Given the description of an element on the screen output the (x, y) to click on. 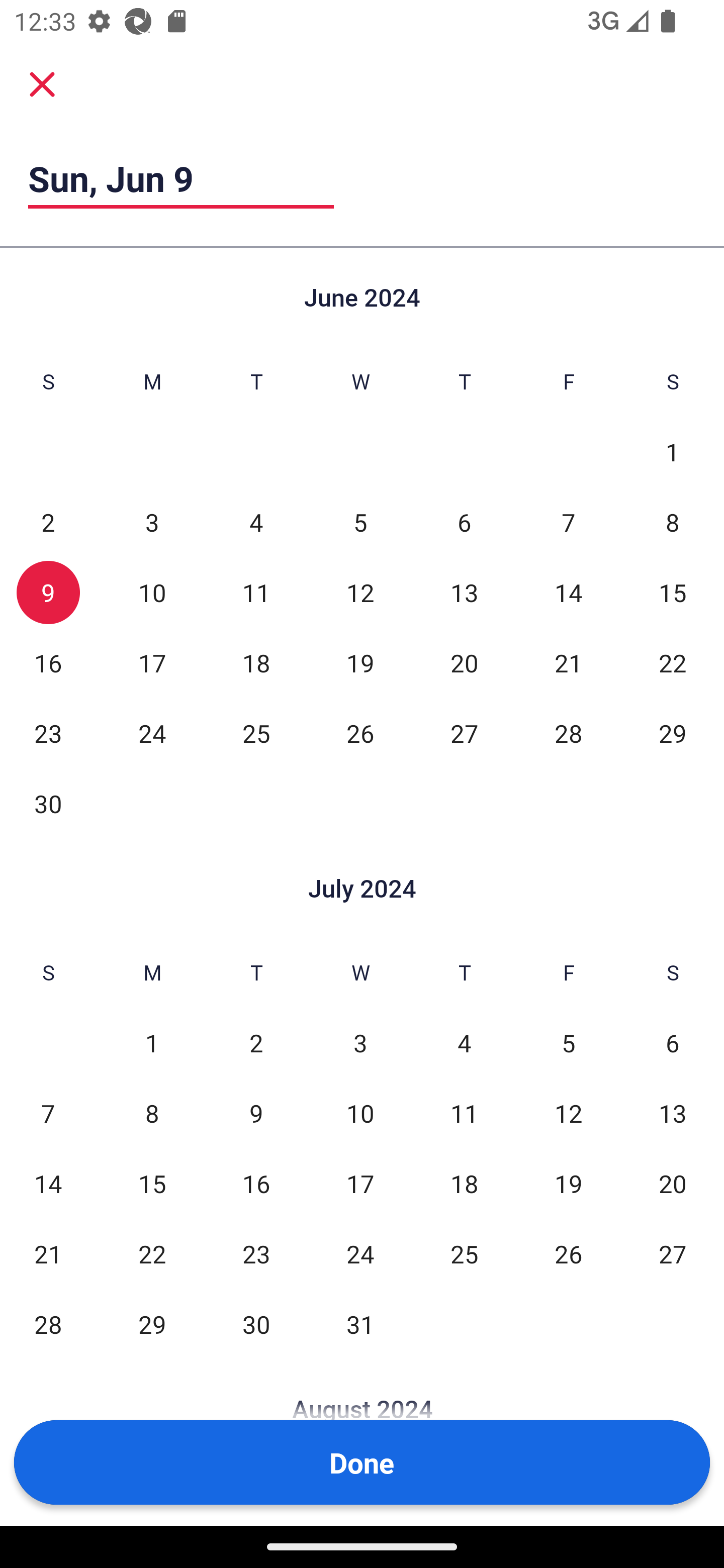
Cancel (42, 84)
Sun, Jun 9 (180, 178)
1 Sat, Jun 1, Not Selected (672, 452)
2 Sun, Jun 2, Not Selected (48, 521)
3 Mon, Jun 3, Not Selected (152, 521)
4 Tue, Jun 4, Not Selected (256, 521)
5 Wed, Jun 5, Not Selected (360, 521)
6 Thu, Jun 6, Not Selected (464, 521)
7 Fri, Jun 7, Not Selected (568, 521)
8 Sat, Jun 8, Not Selected (672, 521)
9 Sun, Jun 9, Selected (48, 591)
10 Mon, Jun 10, Not Selected (152, 591)
11 Tue, Jun 11, Not Selected (256, 591)
12 Wed, Jun 12, Not Selected (360, 591)
13 Thu, Jun 13, Not Selected (464, 591)
14 Fri, Jun 14, Not Selected (568, 591)
15 Sat, Jun 15, Not Selected (672, 591)
16 Sun, Jun 16, Not Selected (48, 662)
17 Mon, Jun 17, Not Selected (152, 662)
18 Tue, Jun 18, Not Selected (256, 662)
19 Wed, Jun 19, Not Selected (360, 662)
20 Thu, Jun 20, Not Selected (464, 662)
21 Fri, Jun 21, Not Selected (568, 662)
22 Sat, Jun 22, Not Selected (672, 662)
23 Sun, Jun 23, Not Selected (48, 732)
24 Mon, Jun 24, Not Selected (152, 732)
25 Tue, Jun 25, Not Selected (256, 732)
26 Wed, Jun 26, Not Selected (360, 732)
27 Thu, Jun 27, Not Selected (464, 732)
28 Fri, Jun 28, Not Selected (568, 732)
29 Sat, Jun 29, Not Selected (672, 732)
30 Sun, Jun 30, Not Selected (48, 803)
1 Mon, Jul 1, Not Selected (152, 1043)
2 Tue, Jul 2, Not Selected (256, 1043)
3 Wed, Jul 3, Not Selected (360, 1043)
4 Thu, Jul 4, Not Selected (464, 1043)
5 Fri, Jul 5, Not Selected (568, 1043)
6 Sat, Jul 6, Not Selected (672, 1043)
7 Sun, Jul 7, Not Selected (48, 1112)
8 Mon, Jul 8, Not Selected (152, 1112)
9 Tue, Jul 9, Not Selected (256, 1112)
10 Wed, Jul 10, Not Selected (360, 1112)
11 Thu, Jul 11, Not Selected (464, 1112)
12 Fri, Jul 12, Not Selected (568, 1112)
13 Sat, Jul 13, Not Selected (672, 1112)
14 Sun, Jul 14, Not Selected (48, 1182)
15 Mon, Jul 15, Not Selected (152, 1182)
16 Tue, Jul 16, Not Selected (256, 1182)
17 Wed, Jul 17, Not Selected (360, 1182)
18 Thu, Jul 18, Not Selected (464, 1182)
19 Fri, Jul 19, Not Selected (568, 1182)
20 Sat, Jul 20, Not Selected (672, 1182)
21 Sun, Jul 21, Not Selected (48, 1253)
22 Mon, Jul 22, Not Selected (152, 1253)
23 Tue, Jul 23, Not Selected (256, 1253)
24 Wed, Jul 24, Not Selected (360, 1253)
25 Thu, Jul 25, Not Selected (464, 1253)
26 Fri, Jul 26, Not Selected (568, 1253)
27 Sat, Jul 27, Not Selected (672, 1253)
28 Sun, Jul 28, Not Selected (48, 1323)
29 Mon, Jul 29, Not Selected (152, 1323)
30 Tue, Jul 30, Not Selected (256, 1323)
31 Wed, Jul 31, Not Selected (360, 1323)
Done Button Done (361, 1462)
